Given the description of an element on the screen output the (x, y) to click on. 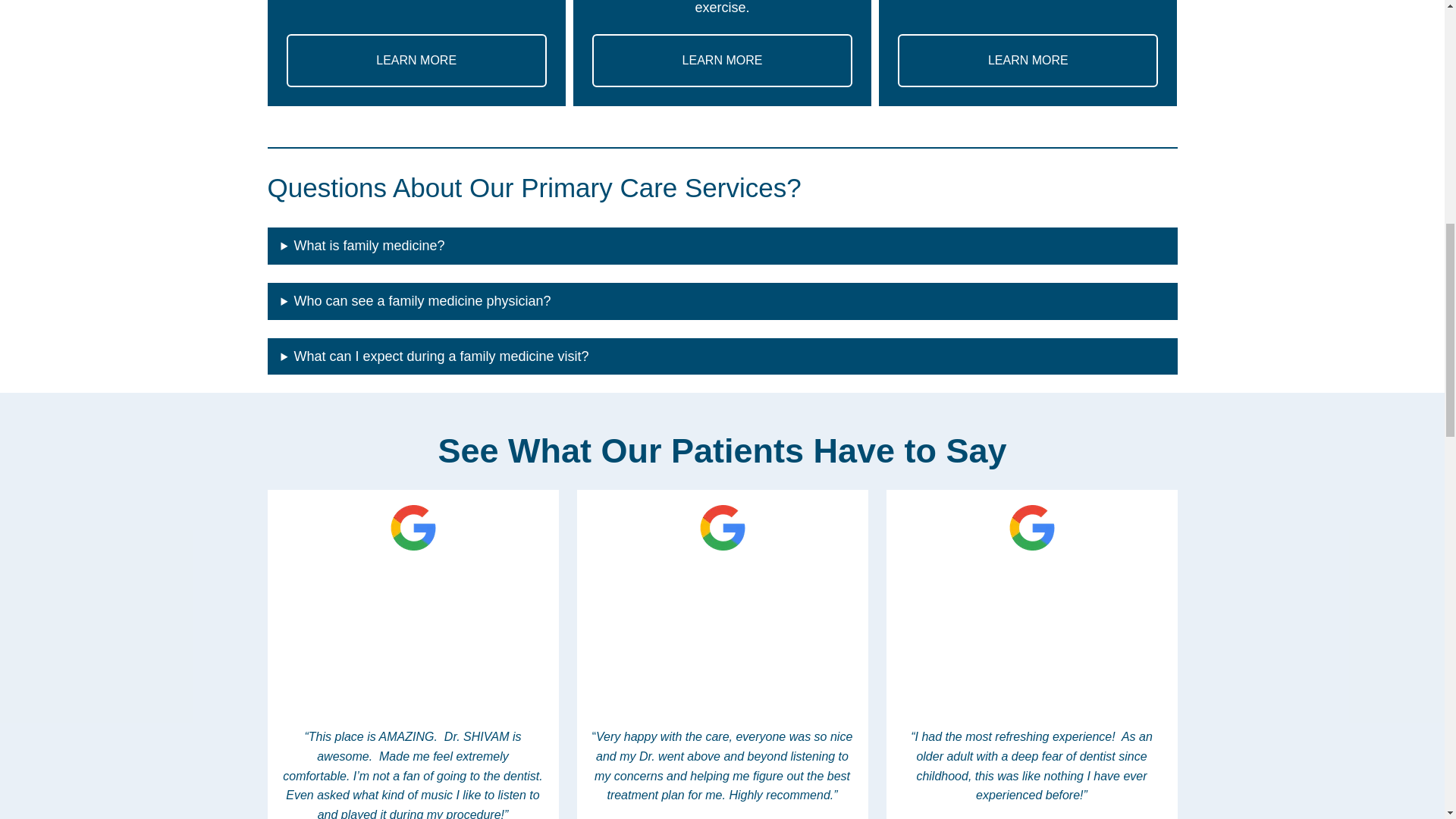
LEARN MORE (416, 60)
LEARN MORE (1027, 60)
LEARN MORE (721, 60)
